Given the description of an element on the screen output the (x, y) to click on. 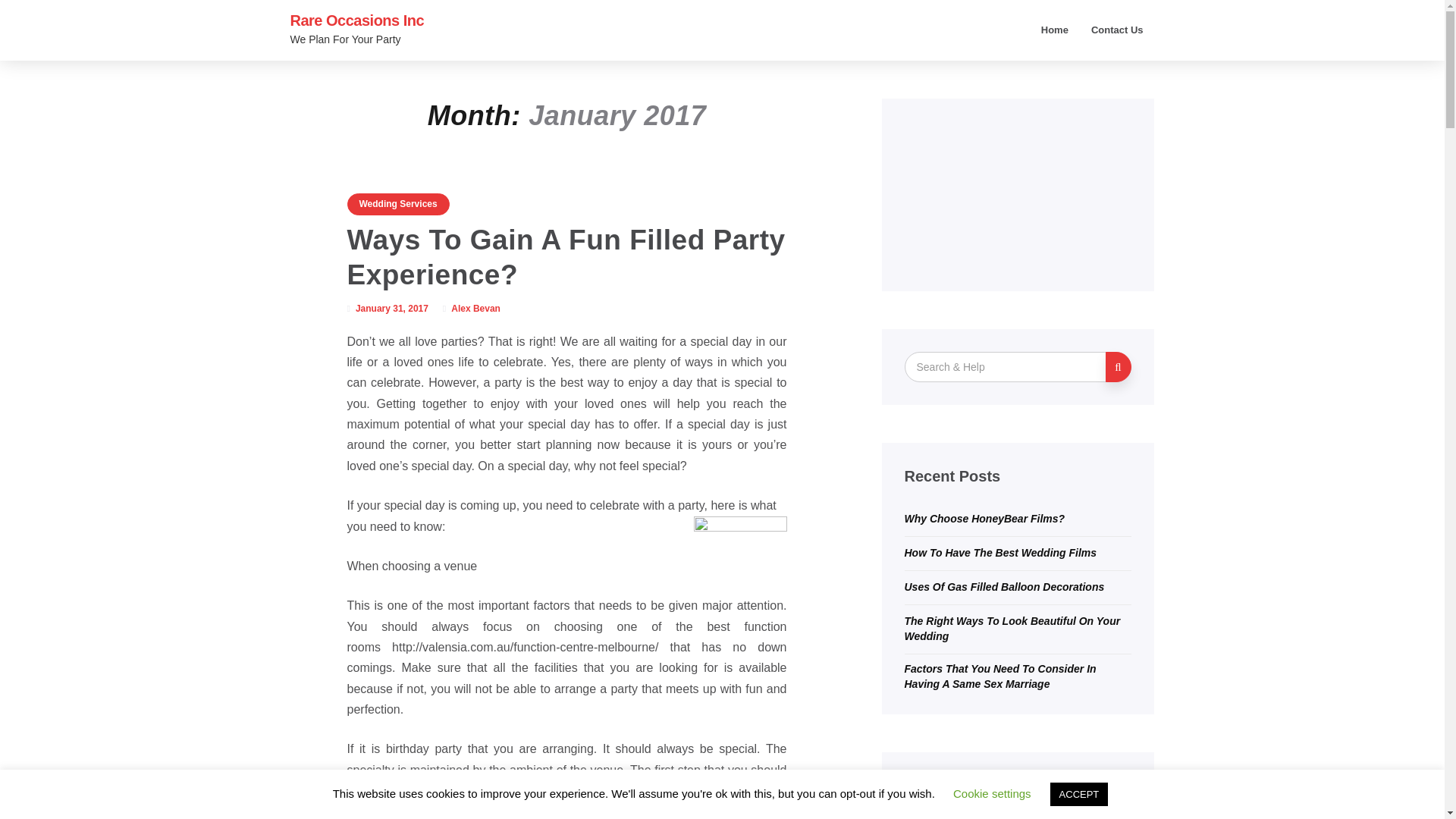
The Right Ways To Look Beautiful On Your Wedding (1011, 628)
How To Have The Best Wedding Films (1000, 552)
Contact Us (1117, 30)
Contact Us (1117, 30)
Rare Occasions Inc (356, 20)
Why Choose HoneyBear Films? (984, 518)
Uses Of Gas Filled Balloon Decorations (1003, 586)
Wedding Services (398, 204)
Search for: (1005, 367)
Home (1054, 30)
Home (1054, 30)
Ways To Gain A Fun Filled Party Experience? (566, 257)
Search (1118, 367)
